Given the description of an element on the screen output the (x, y) to click on. 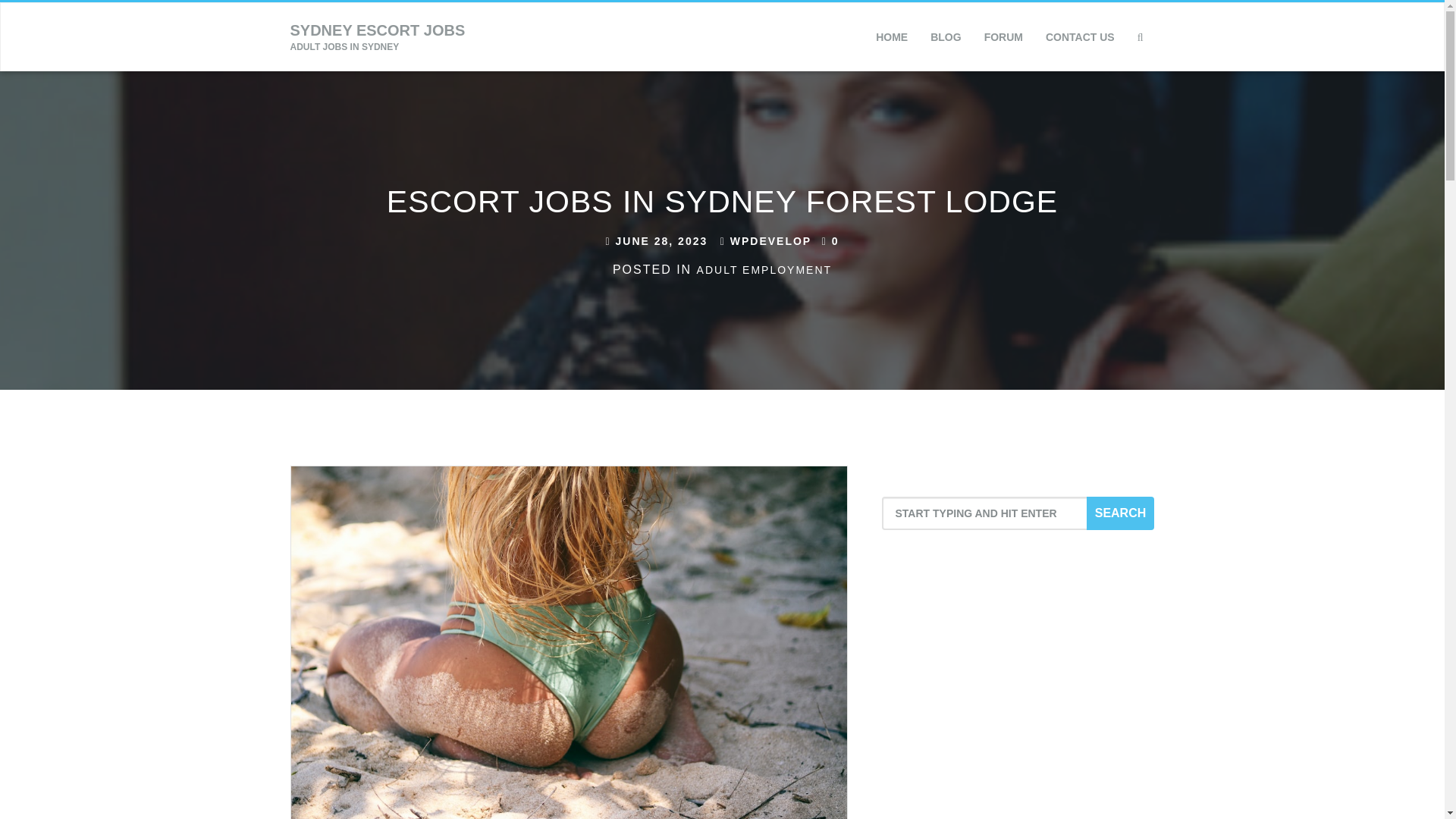
Search  (1120, 512)
Search for: (996, 512)
Search  (1079, 105)
Contact Us (1079, 37)
Search  (1120, 512)
JUNE 28, 2023 (656, 241)
WPDEVELOP (378, 37)
Forum (765, 241)
FORUM (1002, 37)
